Given the description of an element on the screen output the (x, y) to click on. 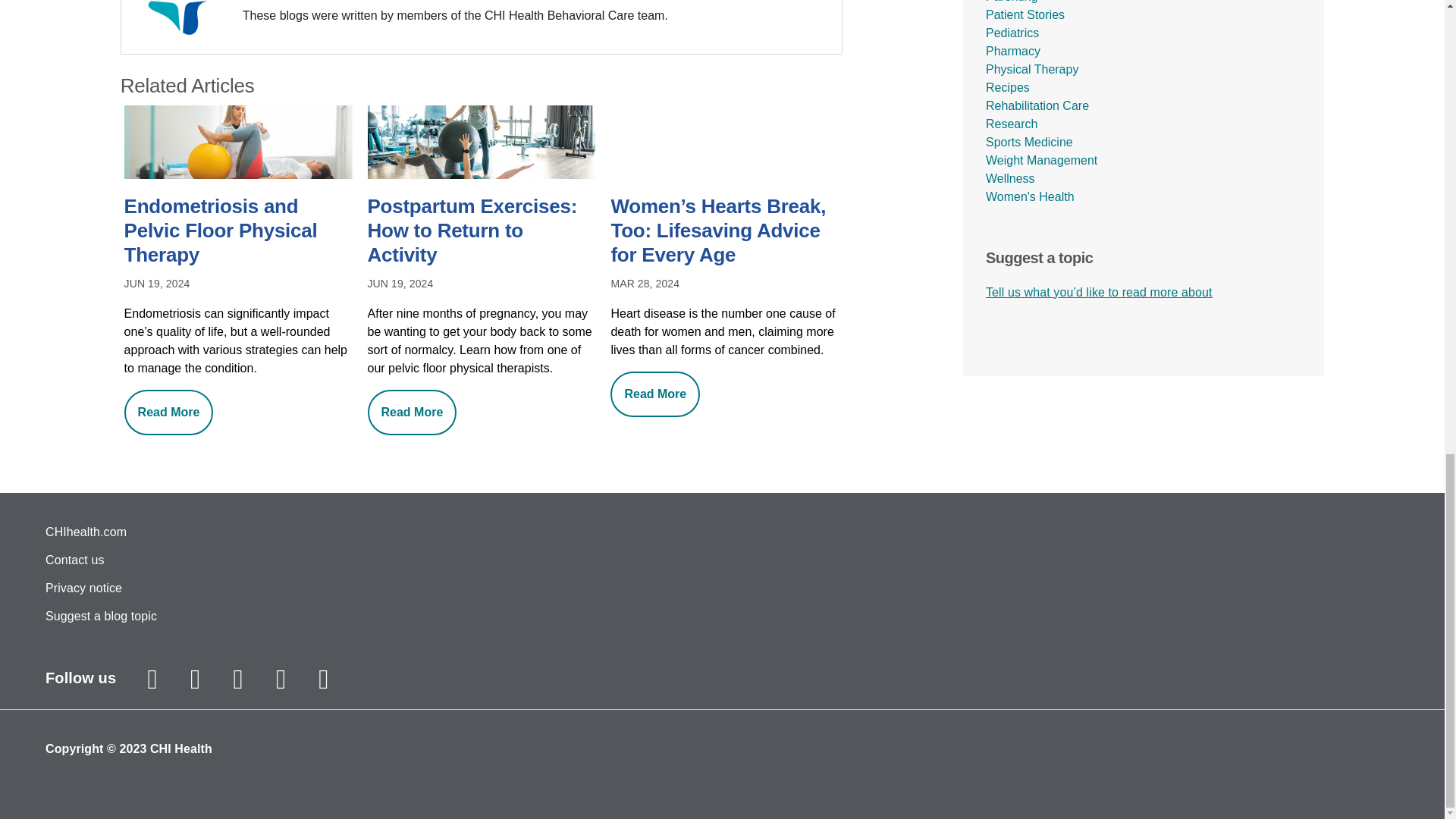
Postpartum Exercises: How to Return to Activity (481, 232)
CHI Health Linkedin page (323, 678)
CHI Health Facebook page (195, 678)
Read More (655, 393)
Endometriosis and Pelvic Floor Physical Therapy (237, 232)
CHI Health Youtube page (280, 678)
CHI Health Instagram page (151, 678)
CHI Health Twitter page (237, 678)
Read More (168, 411)
Read More (412, 411)
